Given the description of an element on the screen output the (x, y) to click on. 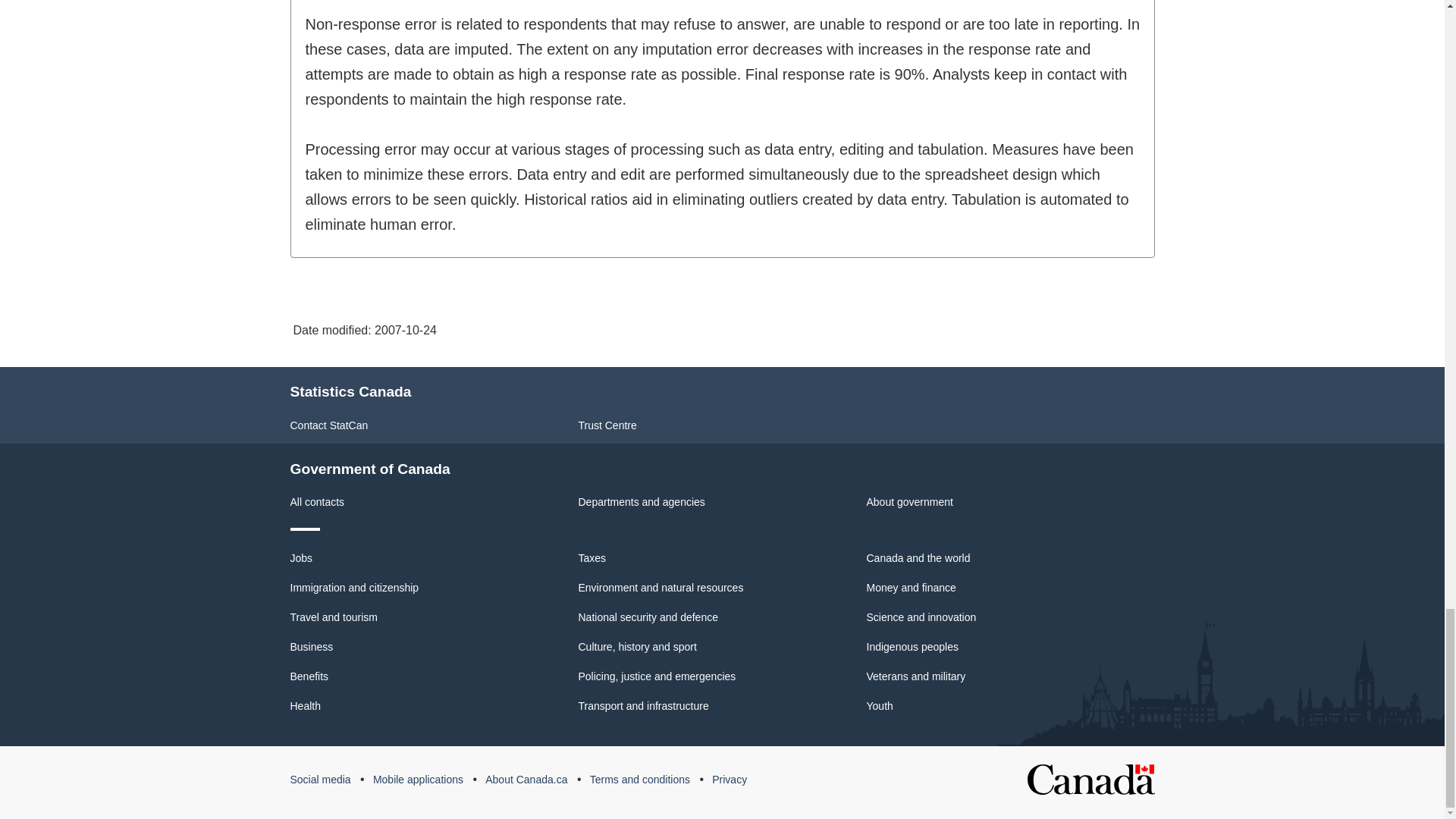
Jobs (301, 558)
Travel and tourism (333, 616)
Immigration and citizenship (354, 587)
Contact StatCan (328, 425)
Trust Centre (607, 425)
Business (311, 646)
About government (909, 501)
Departments and agencies (641, 501)
All contacts (316, 501)
